Given the description of an element on the screen output the (x, y) to click on. 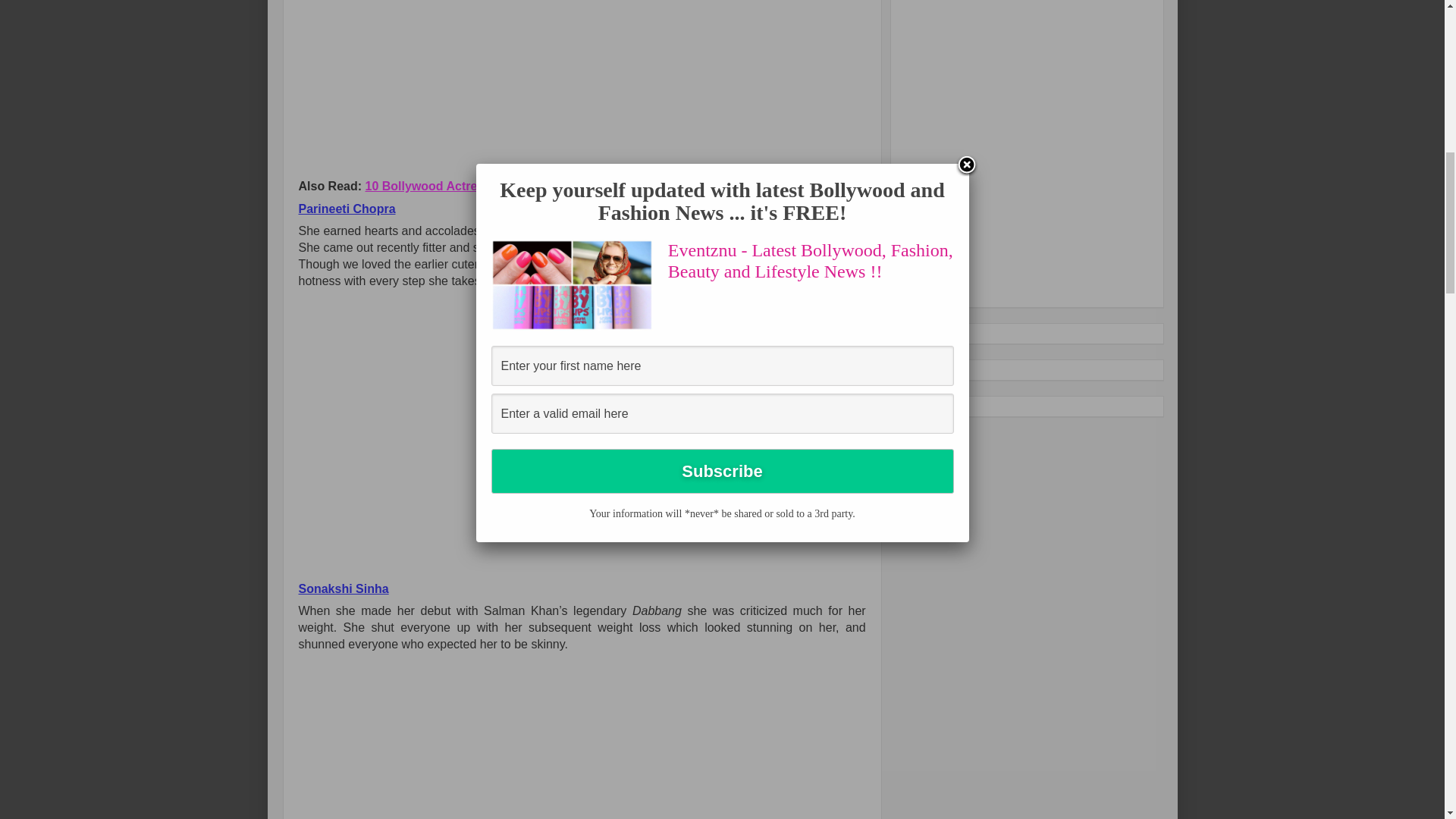
Advertisement (1014, 146)
Advertisement (425, 86)
